Given the description of an element on the screen output the (x, y) to click on. 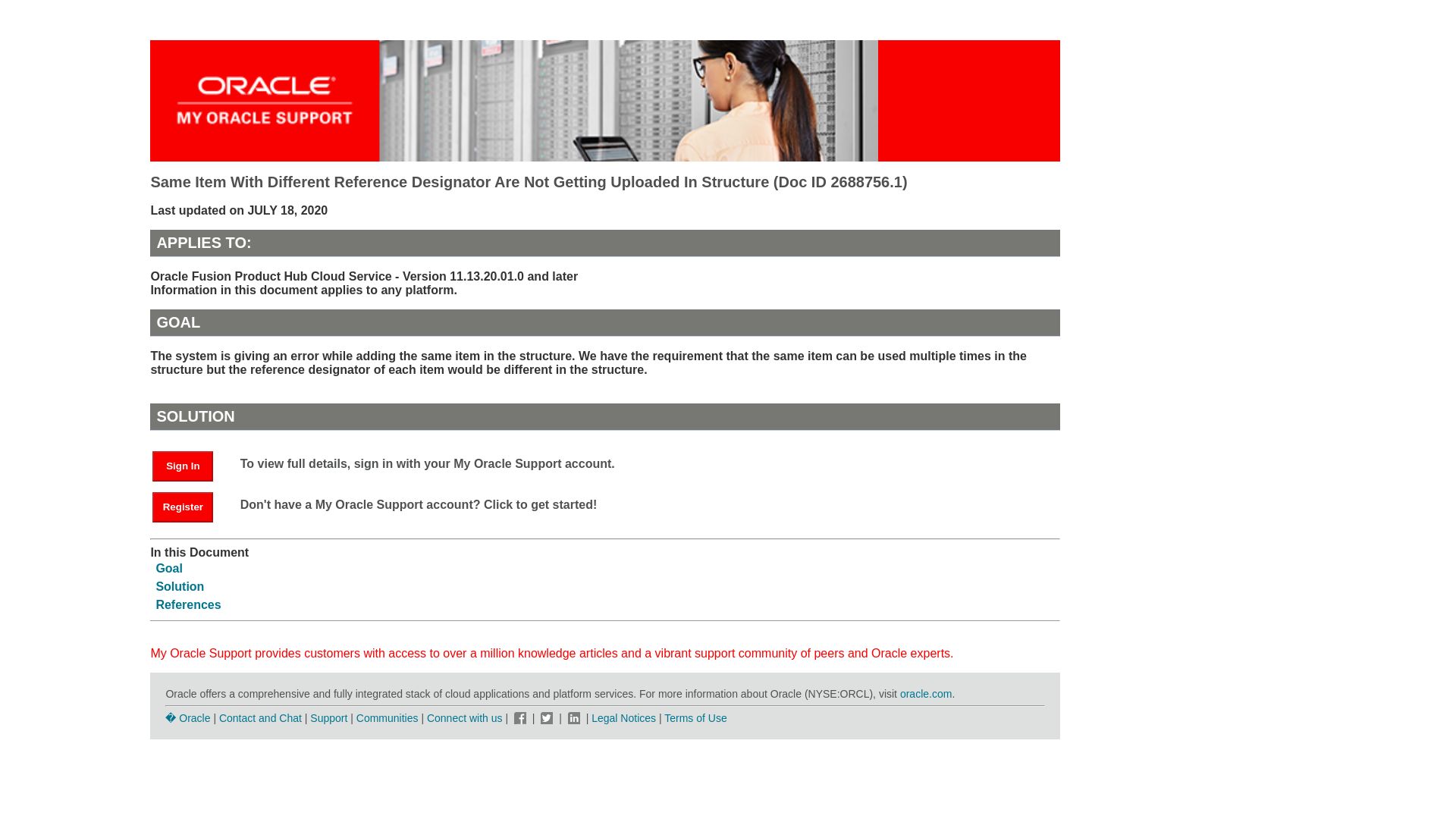
Support (328, 717)
oracle.com (925, 693)
Contact and Chat (260, 717)
Legal Notices (623, 717)
Communities (387, 717)
Terms of Use (694, 717)
Register (190, 505)
oracle.com (925, 693)
Sign In (182, 466)
Register (182, 507)
